Given the description of an element on the screen output the (x, y) to click on. 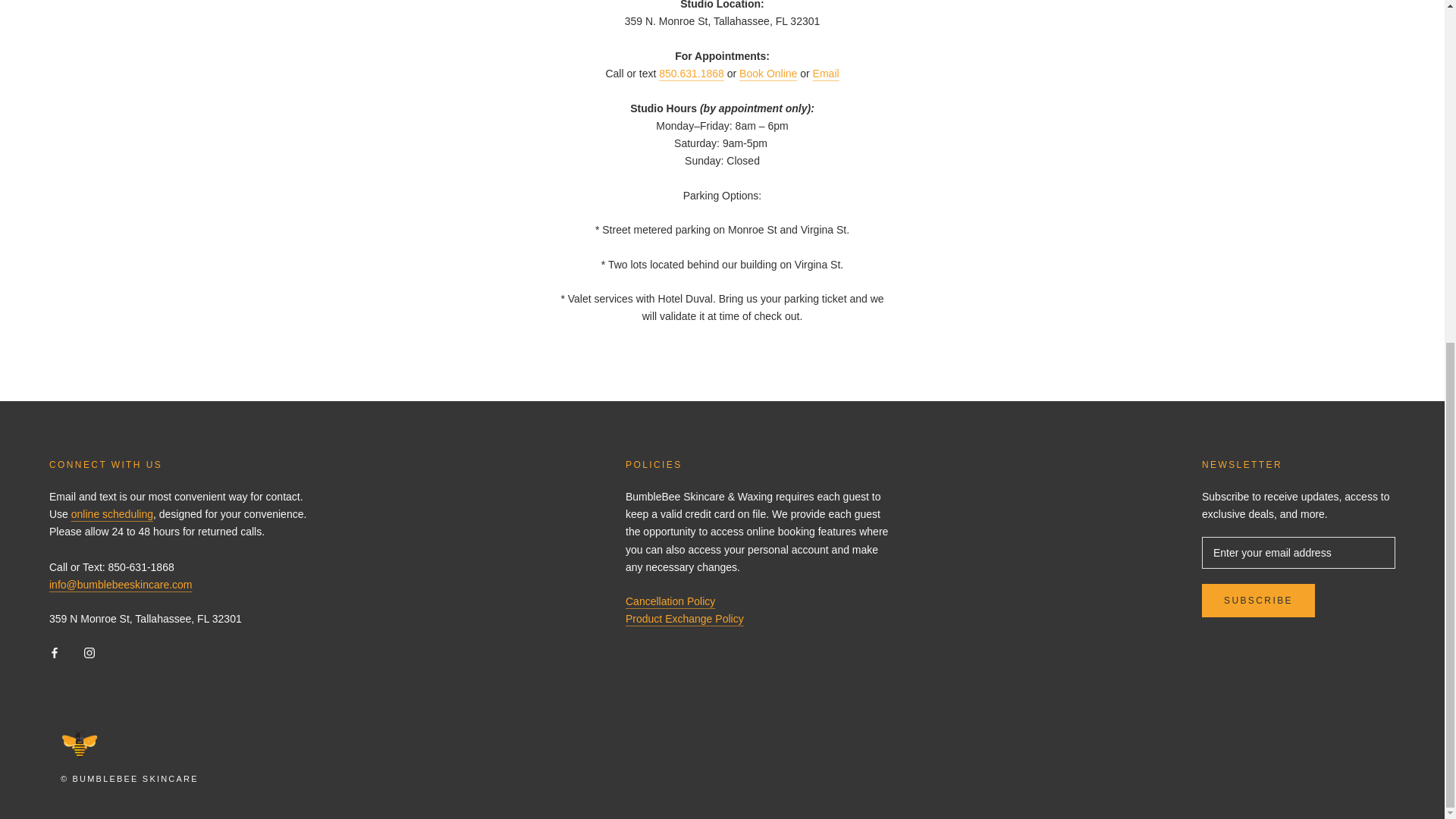
Cancellation Policies (670, 601)
Product Exchange Policy (685, 618)
